Given the description of an element on the screen output the (x, y) to click on. 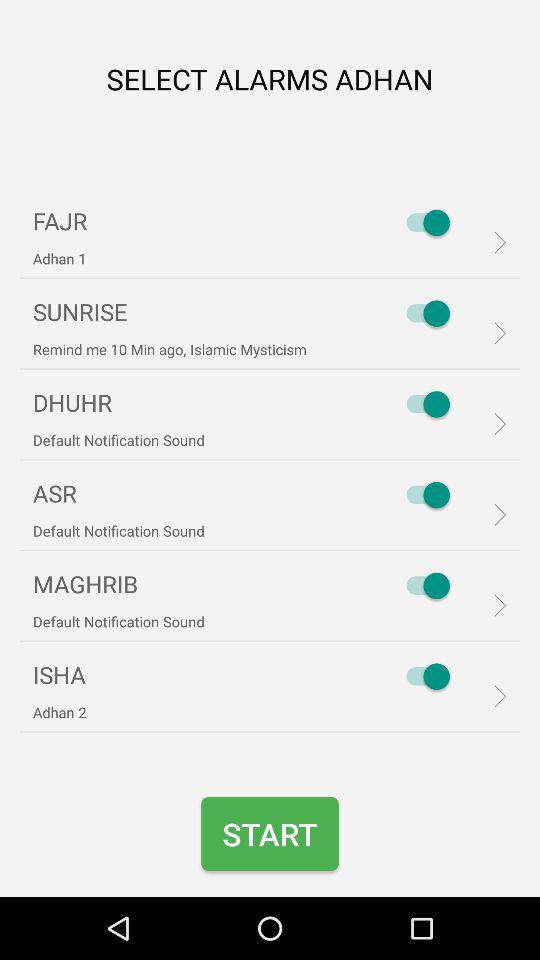
sound switch option (423, 313)
